Given the description of an element on the screen output the (x, y) to click on. 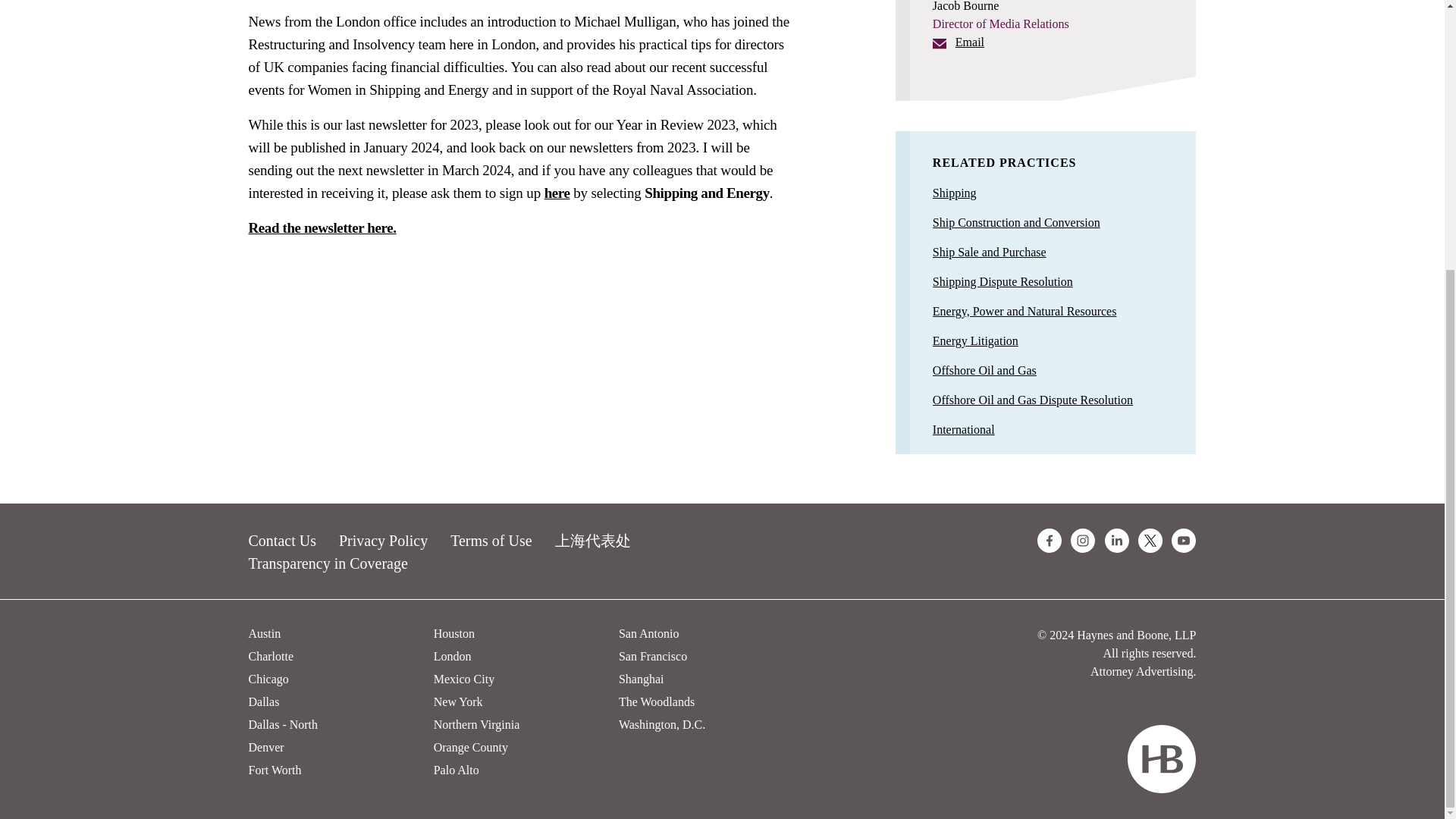
Combined Shape (1160, 757)
